Given the description of an element on the screen output the (x, y) to click on. 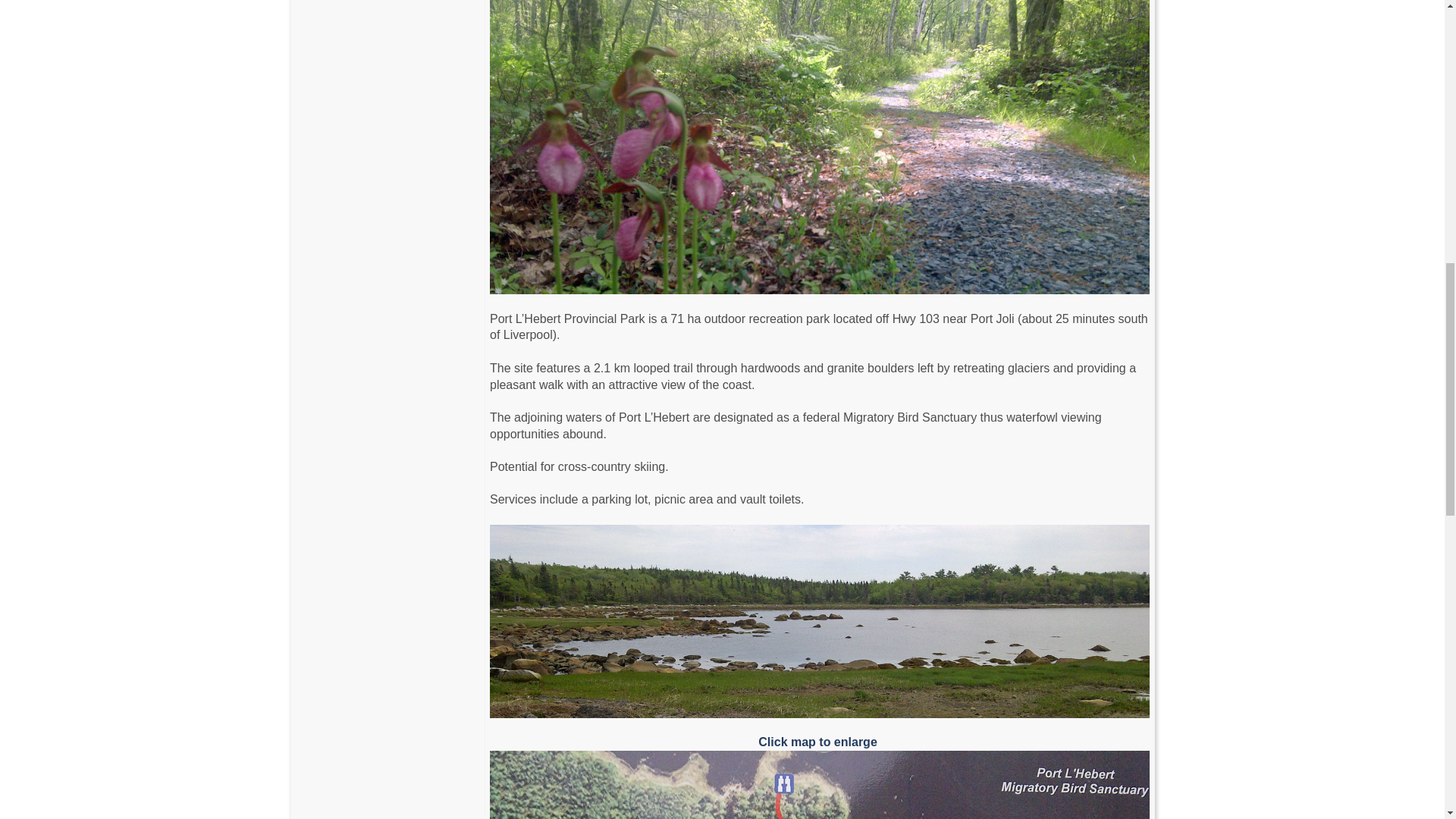
Click map to enlarge  (819, 777)
